Given the description of an element on the screen output the (x, y) to click on. 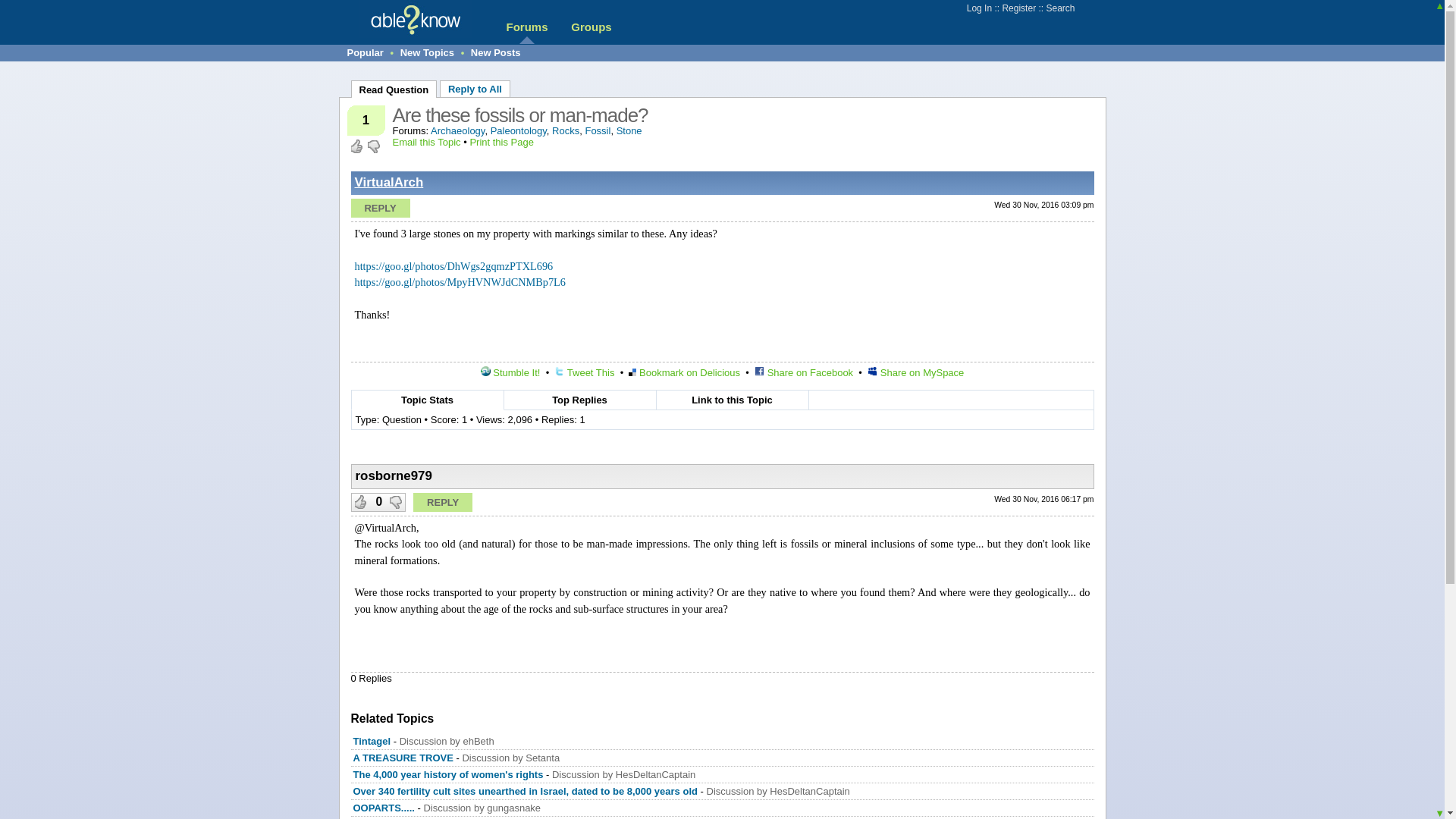
View Profile (389, 182)
New Topics (427, 52)
Register (1018, 8)
A TREASURE TROVE (402, 757)
Search (1059, 8)
Log In (978, 8)
Stumble It! (510, 372)
Popular (365, 52)
Print this Page (501, 142)
Print this Page (501, 142)
